Given the description of an element on the screen output the (x, y) to click on. 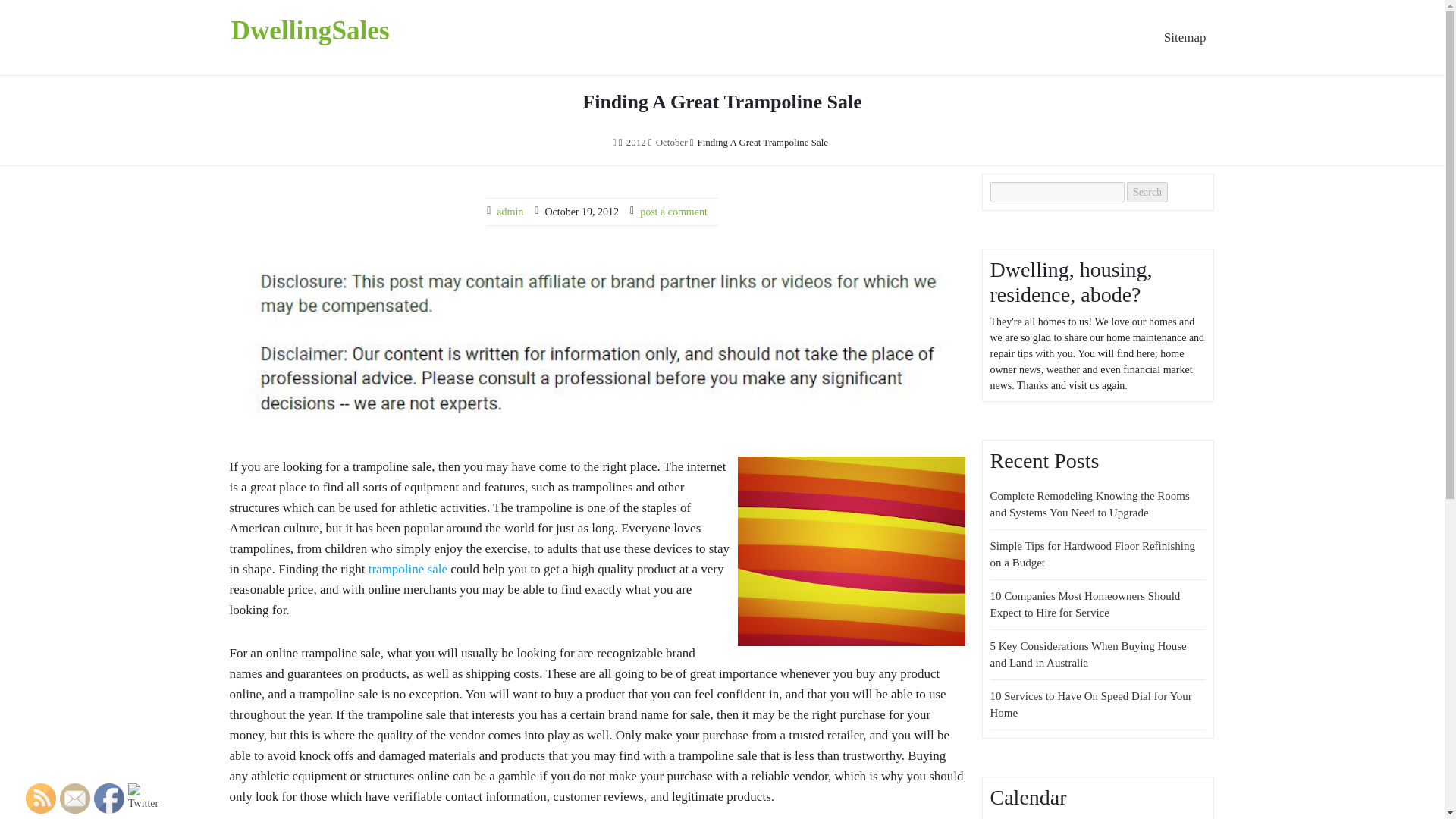
trampoline sale (407, 568)
Sunday (1068, 817)
RSS (41, 798)
5 Key Considerations When Buying House and Land in Australia (1088, 654)
Something to check out (407, 568)
Posts by admin (509, 211)
Monday (996, 817)
post a comment (673, 211)
Follow by Email (74, 798)
October (671, 142)
Simple Tips for Hardwood Floor Refinishing on a Budget (1092, 554)
Sitemap (1185, 37)
Saturday (1056, 817)
10 Services to Have On Speed Dial for Your Home (1091, 704)
Wednesday (1020, 817)
